Given the description of an element on the screen output the (x, y) to click on. 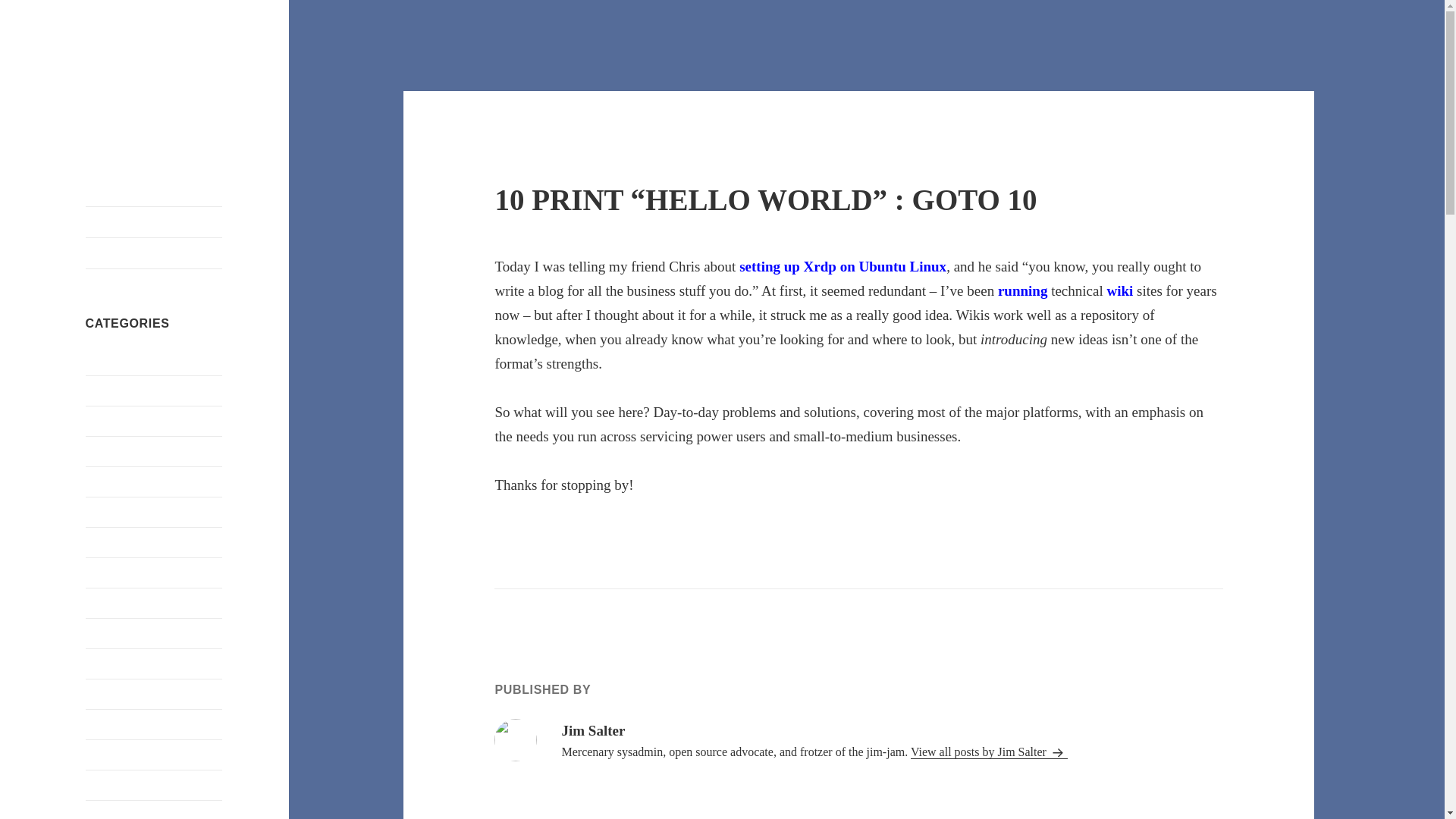
Solid State Drives (128, 693)
Microsoft Exchange (133, 632)
Business (106, 420)
Windows Desktop (129, 813)
Wifi (95, 784)
Hardware (108, 511)
.NET (98, 359)
JRS Systems: the blog (148, 81)
Webservers (112, 753)
Contact (152, 253)
Linux (98, 541)
FreeBSD (107, 481)
Mailservers (113, 571)
Malware (106, 602)
Ubuntu (102, 723)
